Given the description of an element on the screen output the (x, y) to click on. 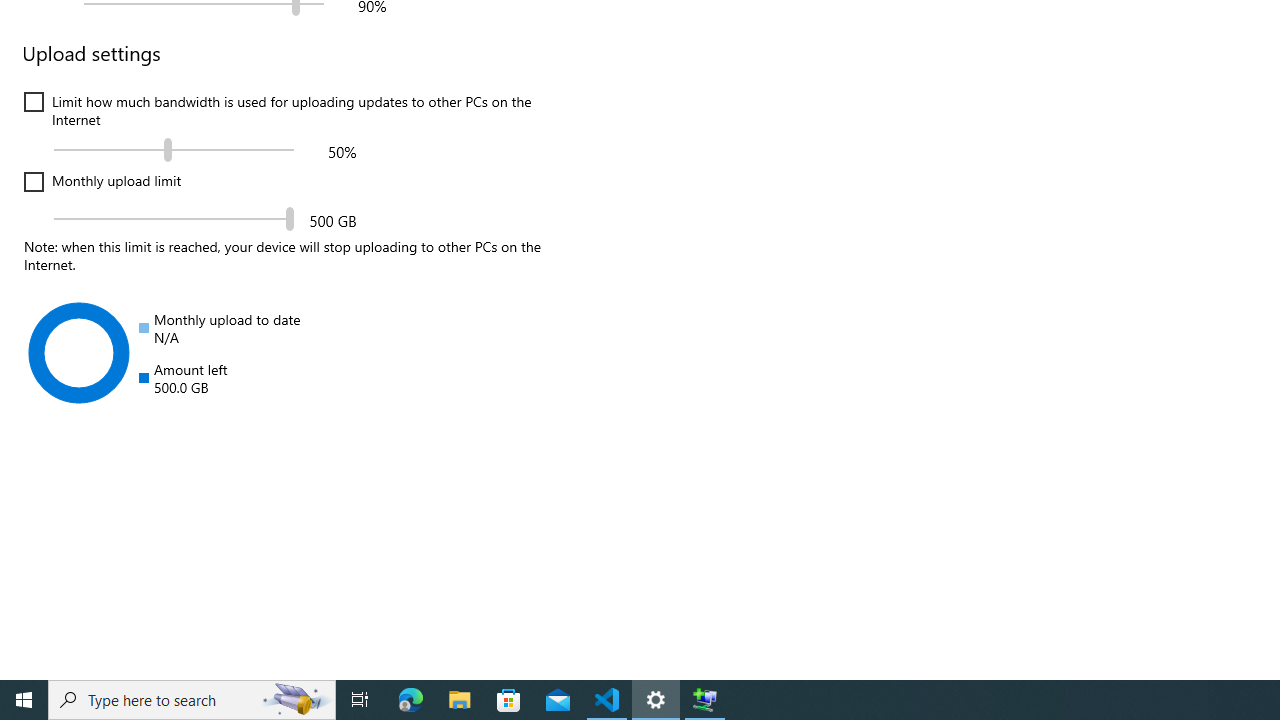
Monthly upload limit (102, 182)
Extensible Wizards Host Process - 1 running window (704, 699)
Monthly upload limit (173, 218)
